Given the description of an element on the screen output the (x, y) to click on. 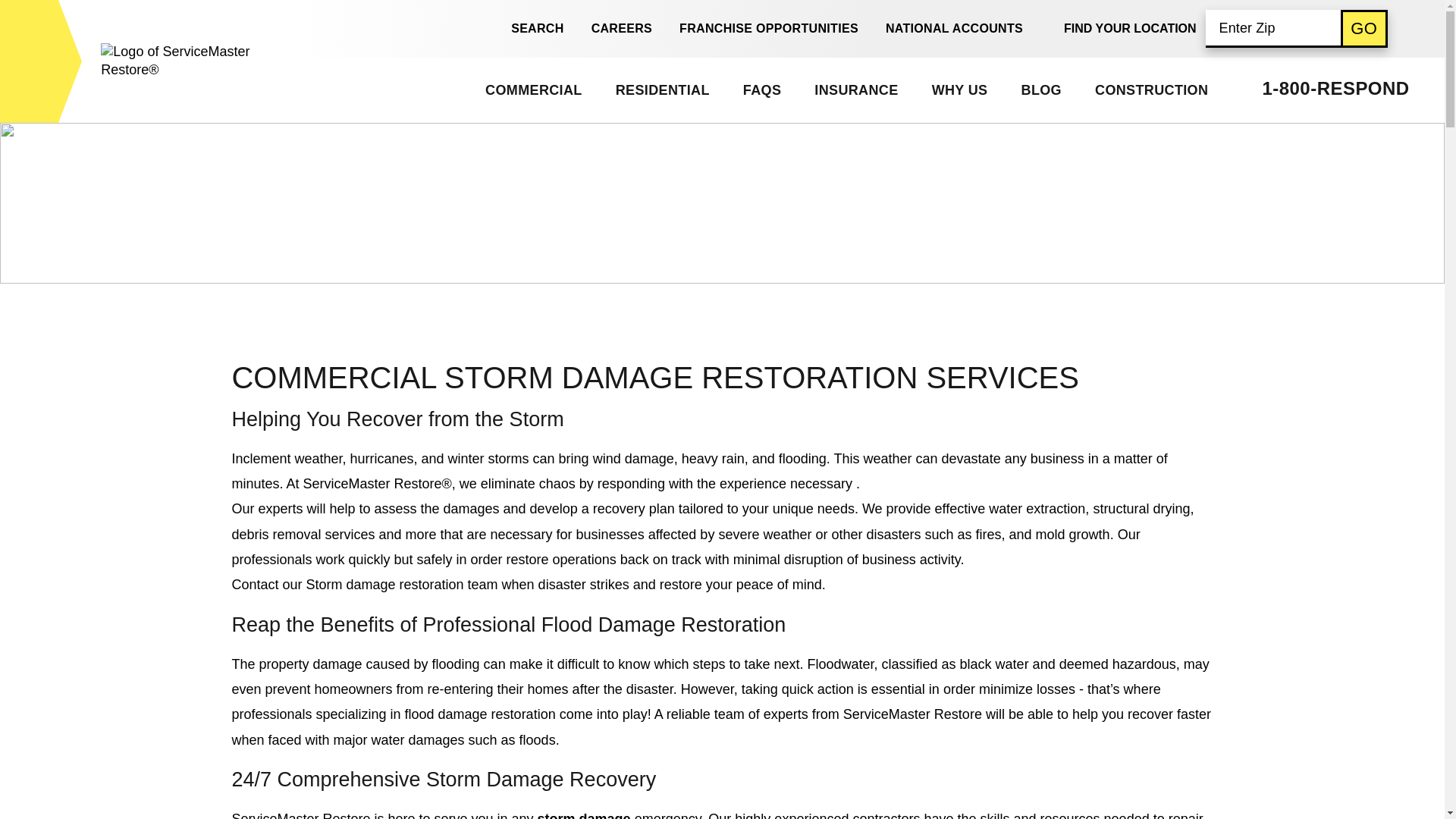
CAREERS (621, 28)
GO (1363, 27)
FIND YOUR LOCATION (1130, 28)
RESIDENTIAL (661, 89)
FRANCHISE OPPORTUNITIES (768, 28)
WHY US (959, 89)
SEARCH (529, 28)
INSURANCE (855, 89)
NATIONAL ACCOUNTS (954, 28)
FAQS (761, 89)
